Given the description of an element on the screen output the (x, y) to click on. 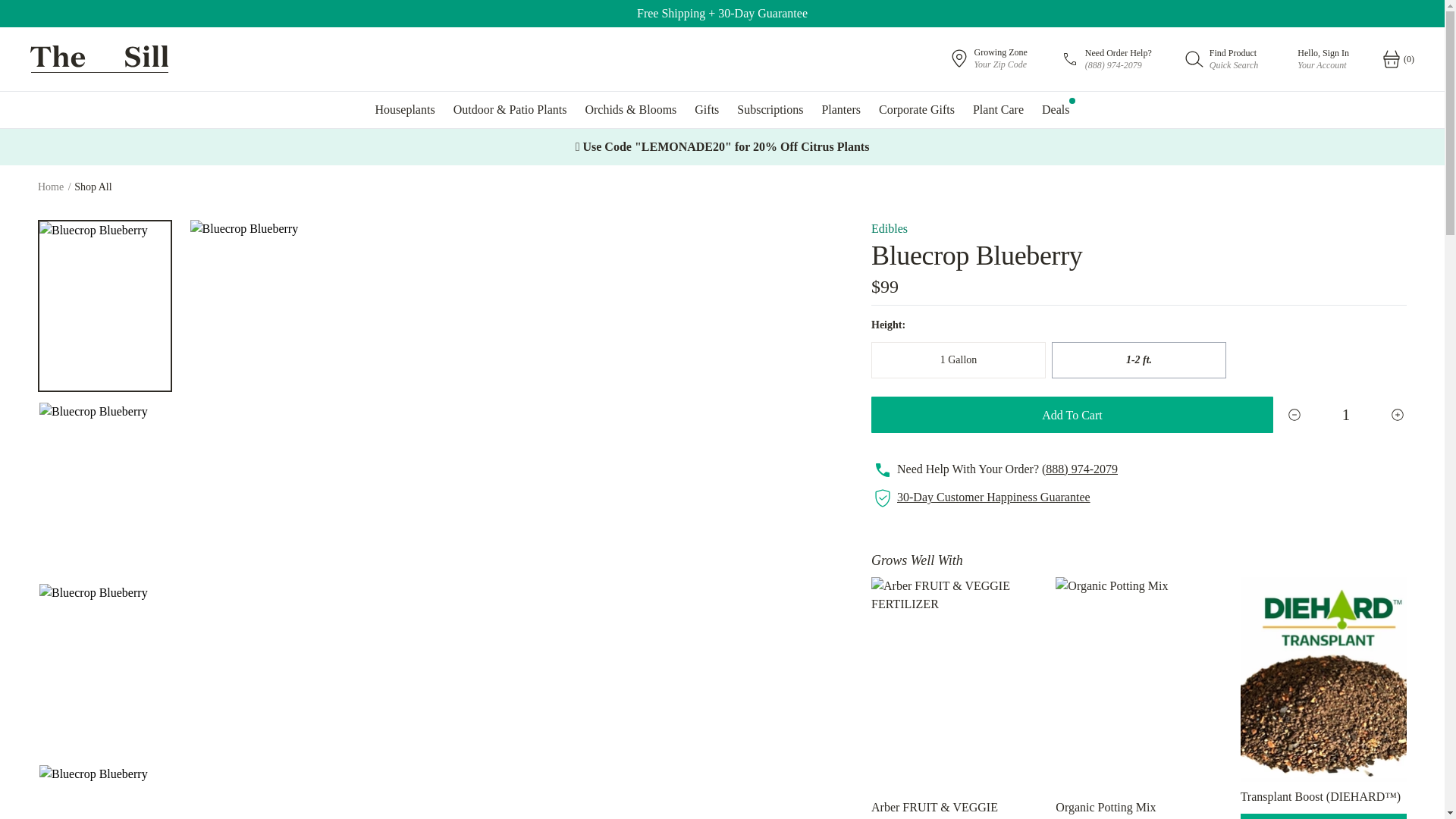
Subscriptions (987, 57)
Corporate Gifts (770, 109)
Deals (1222, 58)
Plant Care (916, 109)
Gifts (1055, 109)
Houseplants (997, 109)
Planters (706, 109)
